Given the description of an element on the screen output the (x, y) to click on. 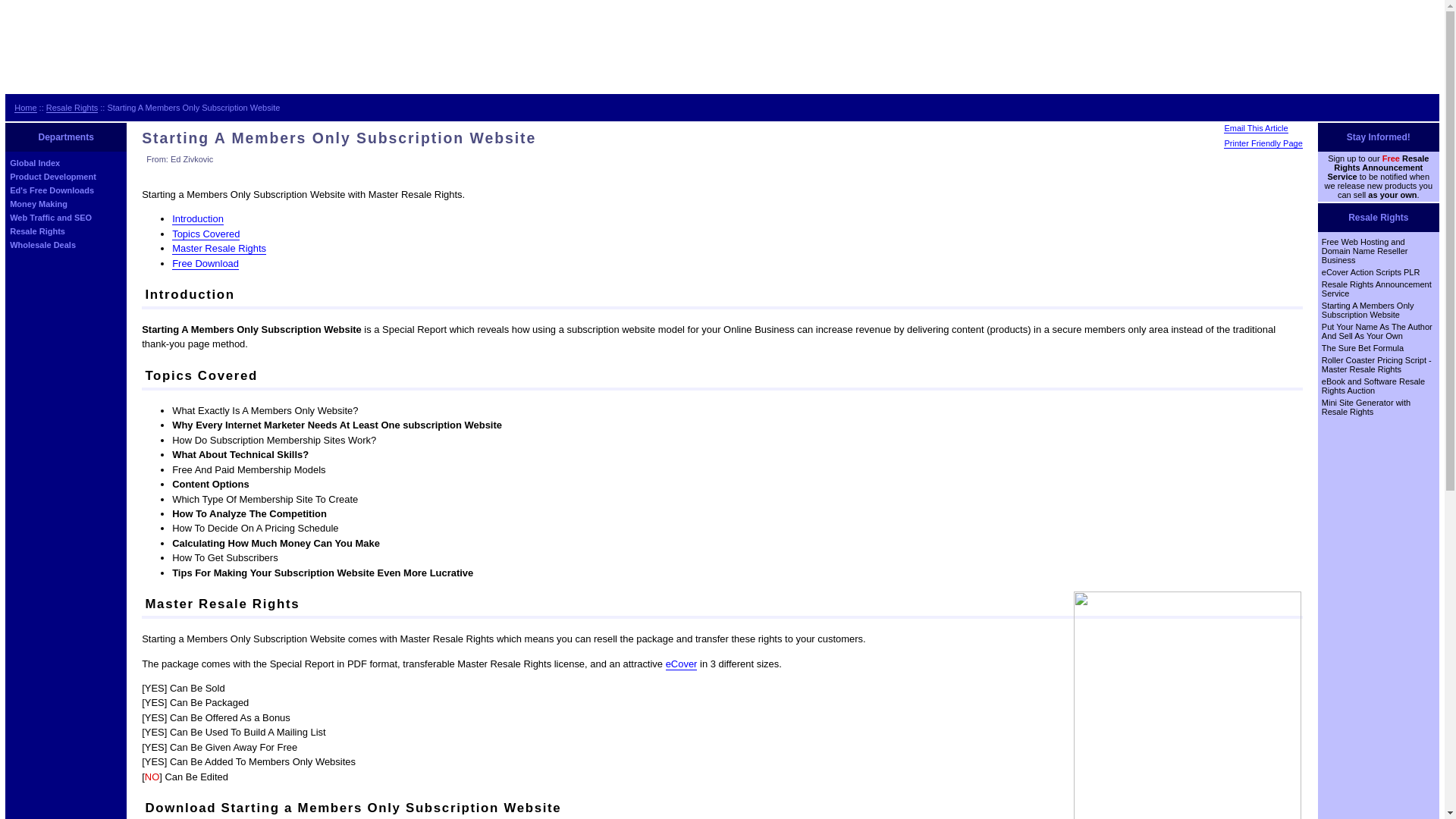
Resale Rights Announcement Service (1376, 289)
Free Download (204, 263)
Master Resale Rights (218, 248)
Introduction (197, 218)
Home Business Webmaster (25, 108)
Resale Rights (37, 230)
Web Traffic and SEO (50, 216)
Product Development (53, 175)
Master Resale Rights (218, 248)
Free Web Hosting and Domain Name Reseller Business (1364, 250)
